Given the description of an element on the screen output the (x, y) to click on. 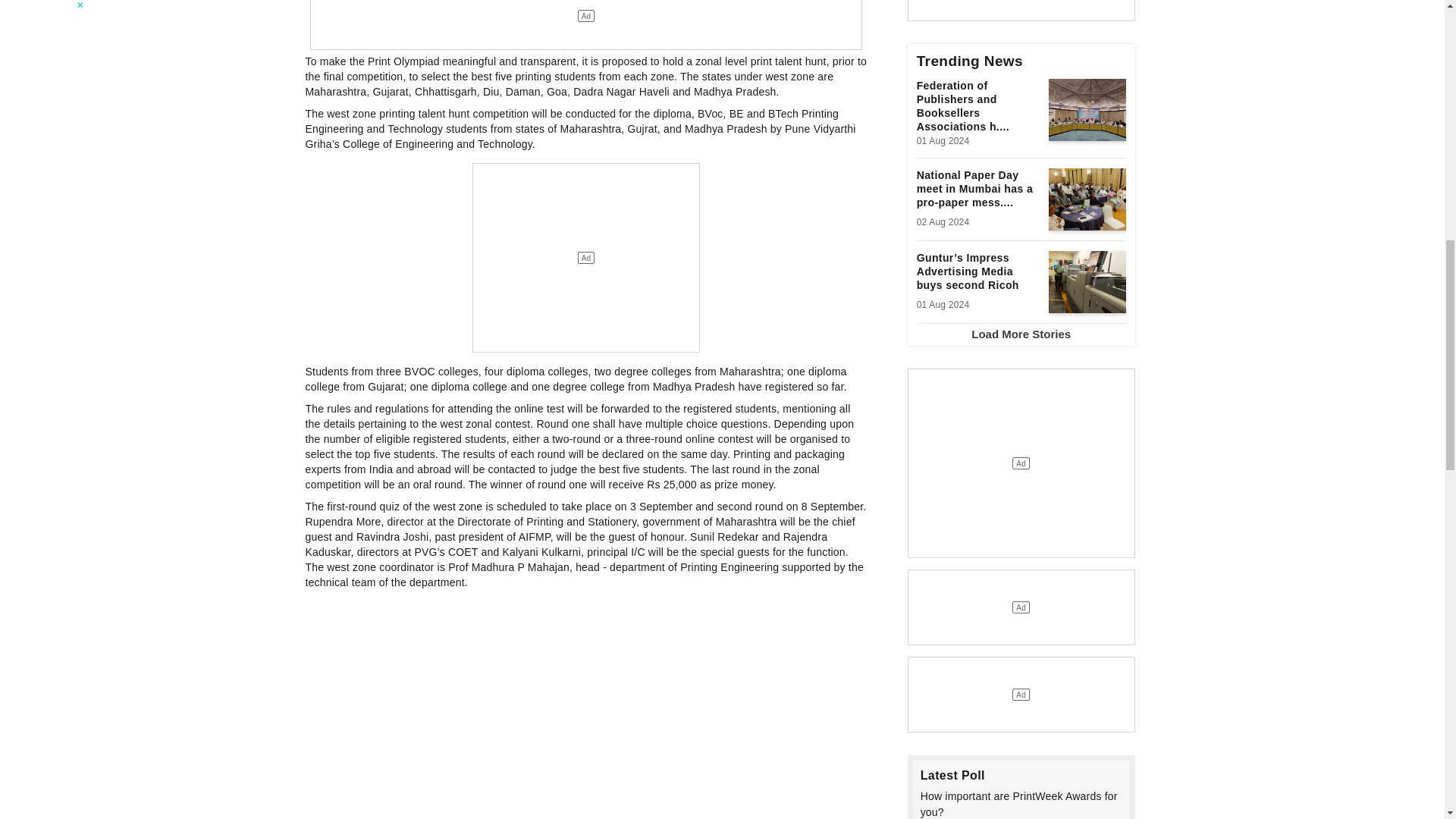
Federation of Publishers and Booksellers Associations h.... (979, 105)
National Paper Day meet in Mumbai has a pro-paper mess.... (979, 191)
